Given the description of an element on the screen output the (x, y) to click on. 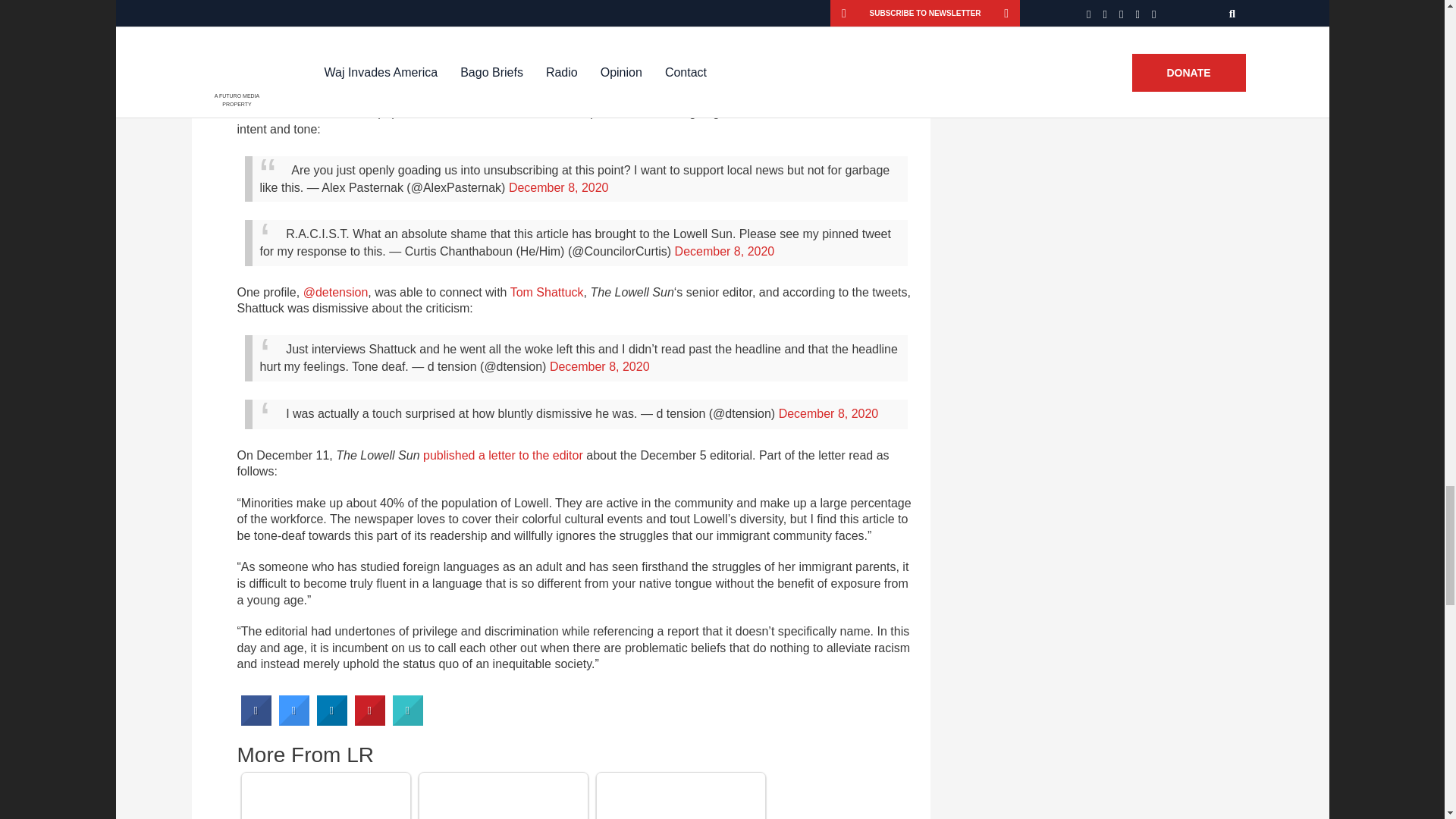
Share on Pinterest (370, 721)
Print this page (408, 721)
published a letter to the editor (503, 454)
December 8, 2020 (724, 250)
Tom Shattuck (547, 291)
Neuro-Inclusivity, Belonging and Radical Hospitality (679, 798)
December 8, 2020 (828, 413)
Share to LinkedIn (332, 721)
Share on Facebook (255, 721)
December 8, 2020 (599, 366)
